Given the description of an element on the screen output the (x, y) to click on. 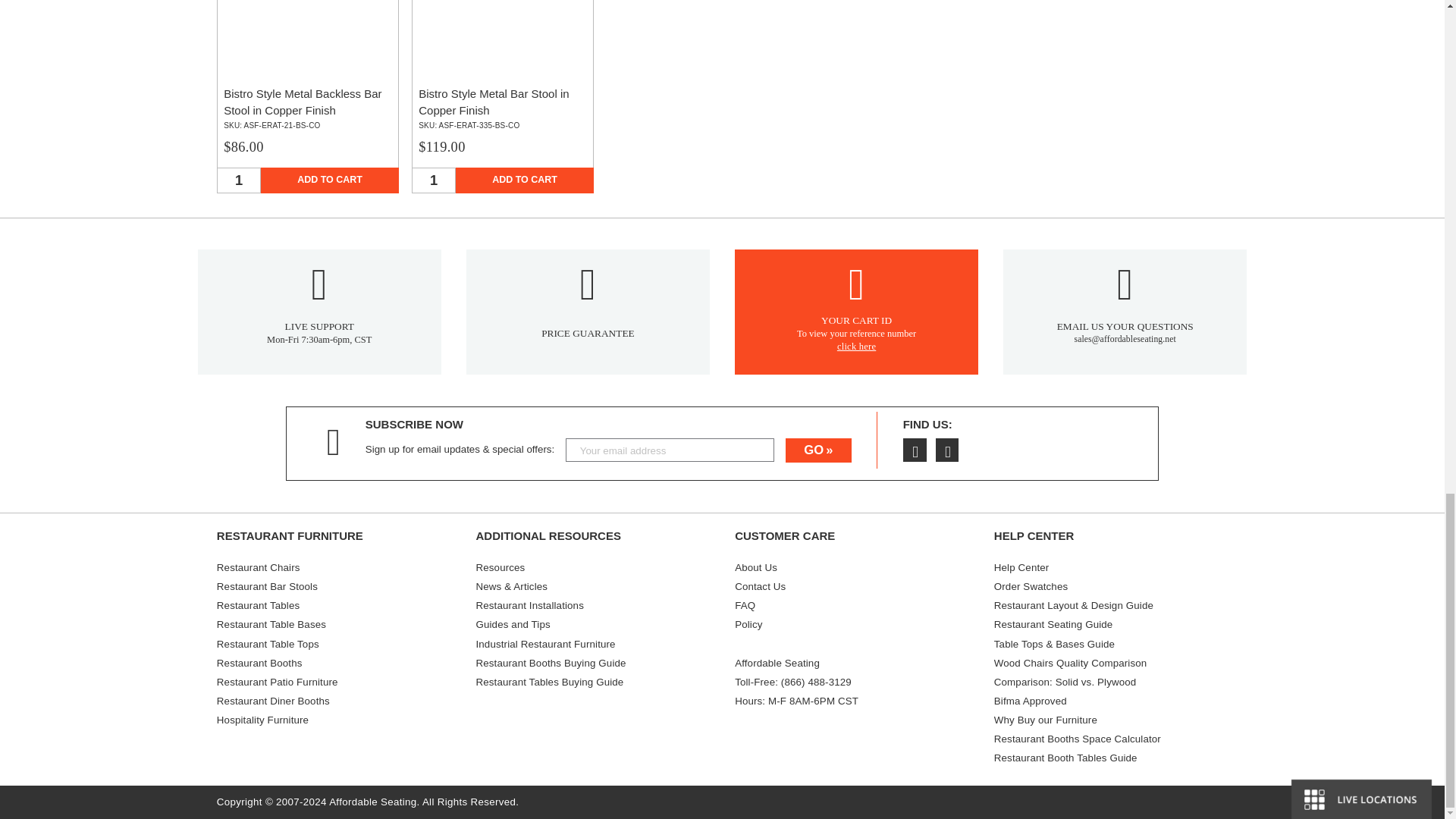
Bistro Style Metal Bar Stool in Copper Finish (502, 65)
Bistro Style Metal Backless Bar Stool in Copper Finish (307, 65)
1 (433, 179)
1 (238, 179)
